Given the description of an element on the screen output the (x, y) to click on. 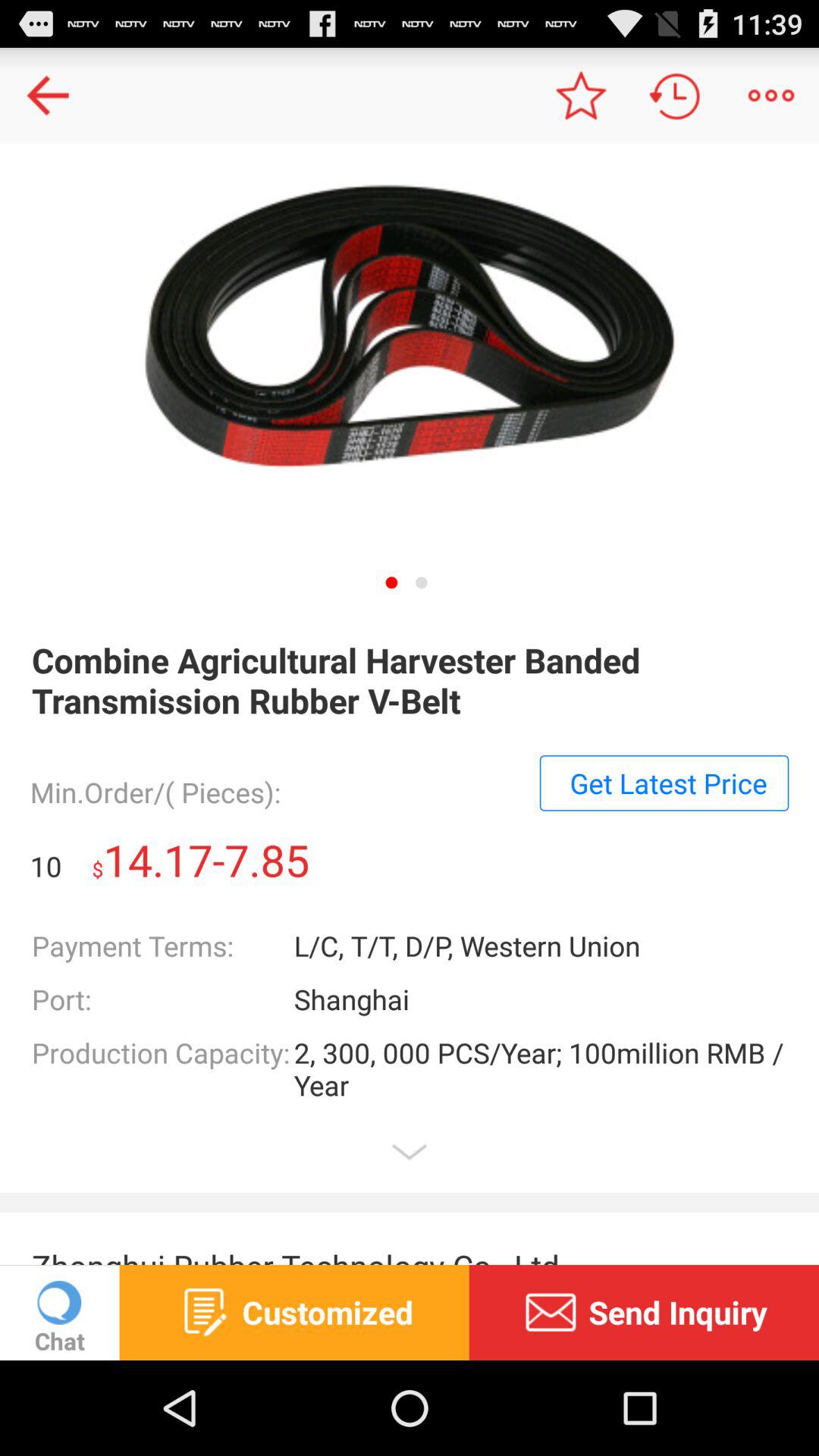
select the text below minorderpieces (663, 782)
click on the icon next to star icon on the top most right corner of the page (675, 95)
